Given the description of an element on the screen output the (x, y) to click on. 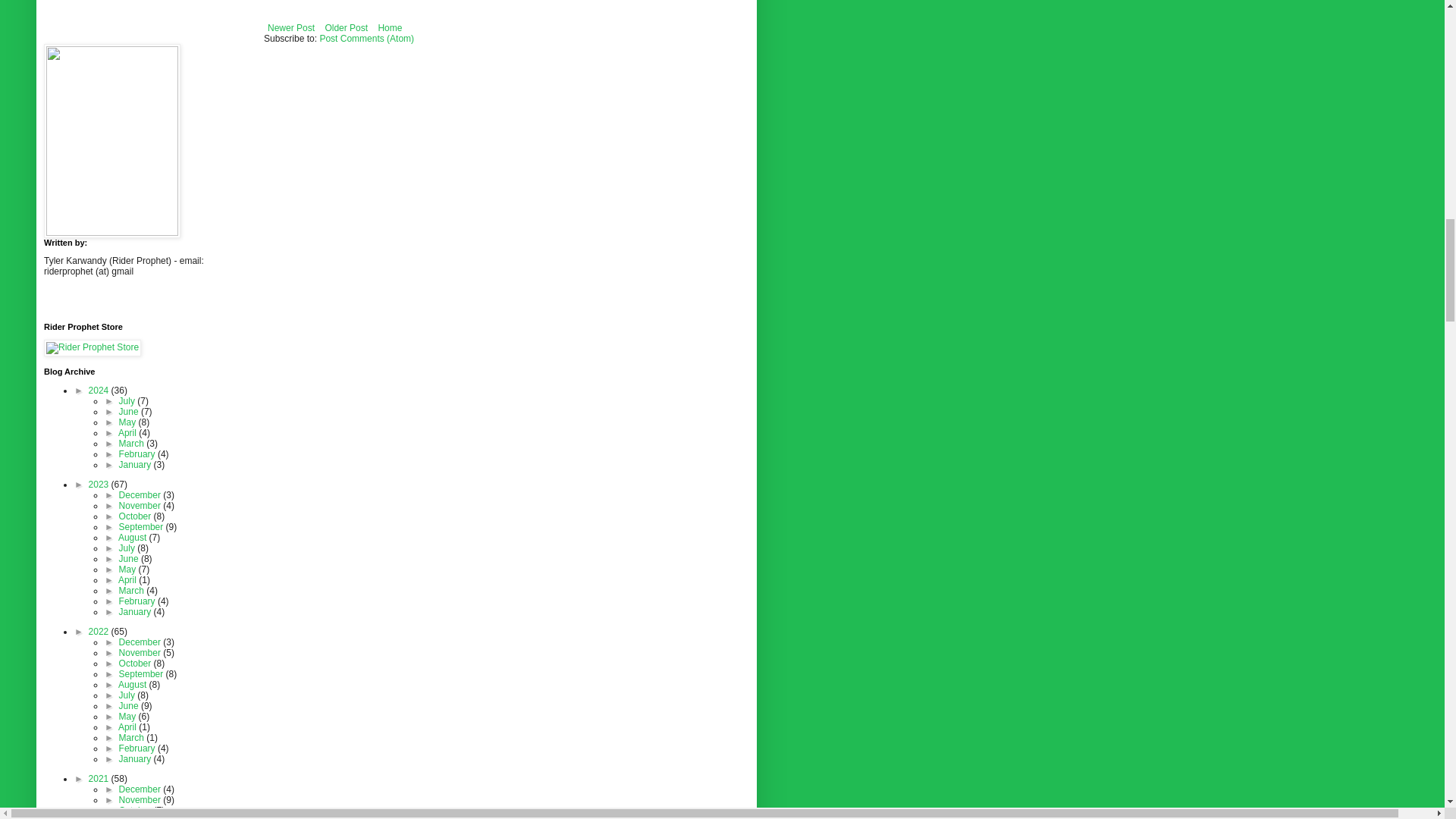
Home (390, 27)
June (130, 411)
July (128, 400)
Older Post (345, 27)
Newer Post (290, 27)
2024 (100, 389)
